Given the description of an element on the screen output the (x, y) to click on. 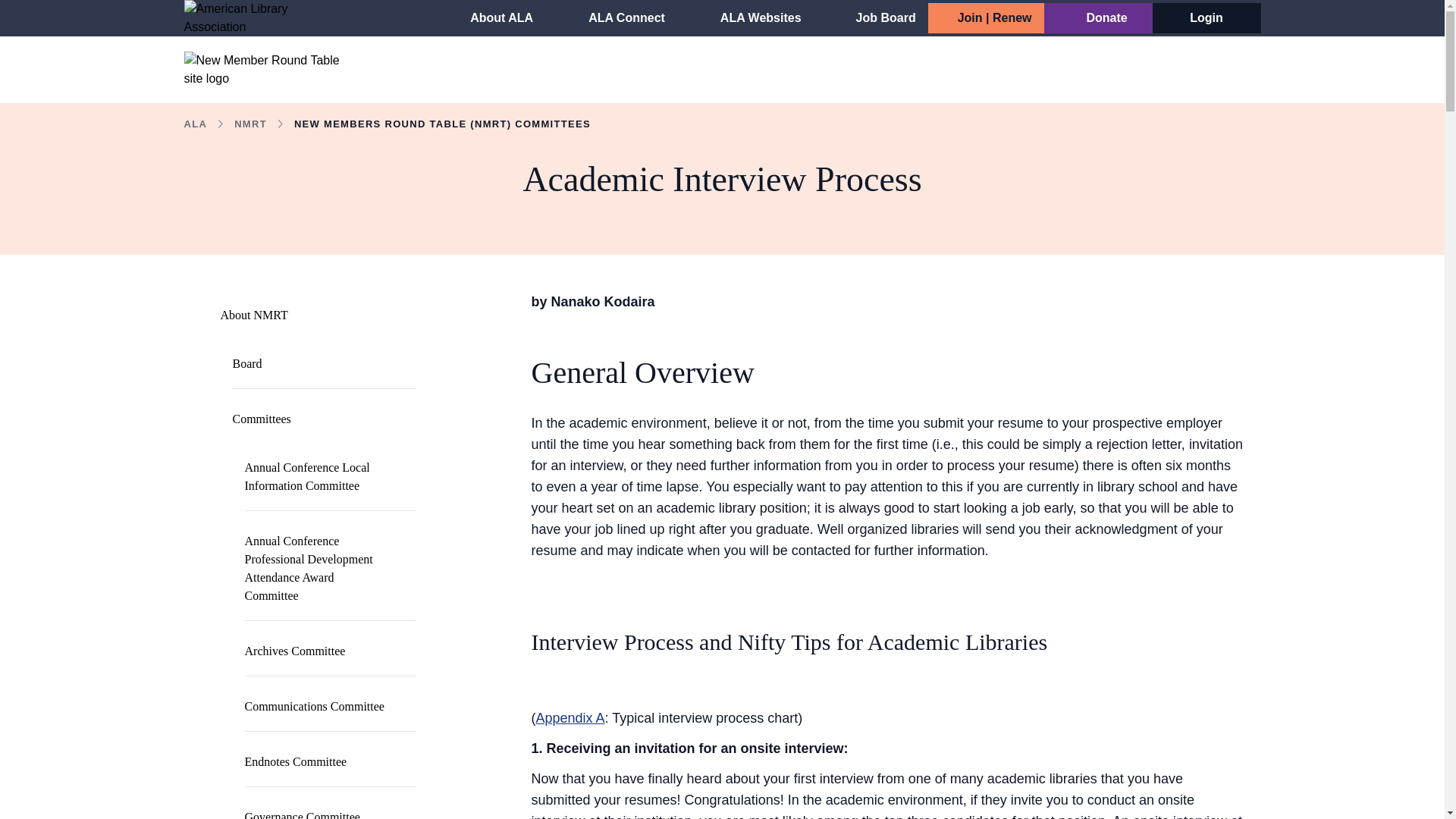
Job Board (876, 18)
ALA Connect (617, 18)
ALA Websites (750, 18)
ALA Connect (617, 18)
Donate (1097, 18)
ALA Websites (750, 18)
Login (1205, 18)
Donate (1097, 18)
About ALA (491, 18)
Login (1205, 18)
About ALA (491, 18)
Job Board (876, 18)
